Given the description of an element on the screen output the (x, y) to click on. 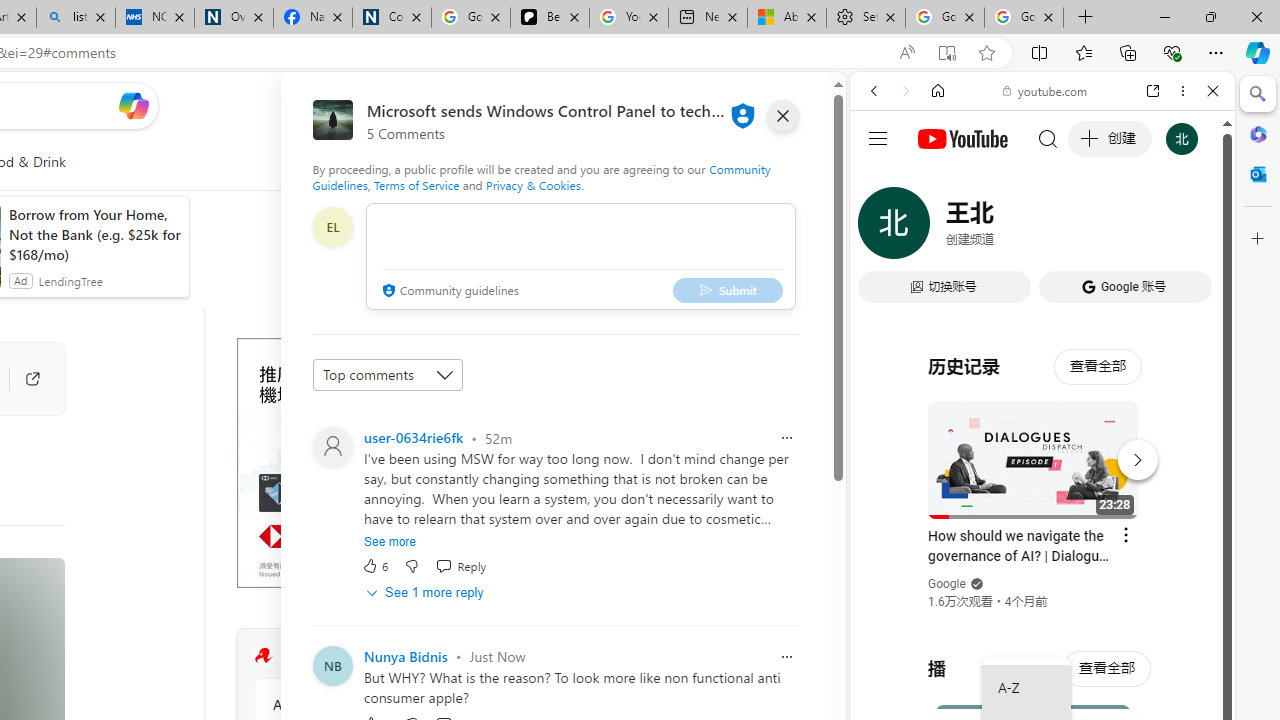
Terms of Service (416, 184)
Music (1042, 543)
Class: qc-adchoices-link top-right  (526, 344)
Search Filter, IMAGES (939, 228)
